Given the description of an element on the screen output the (x, y) to click on. 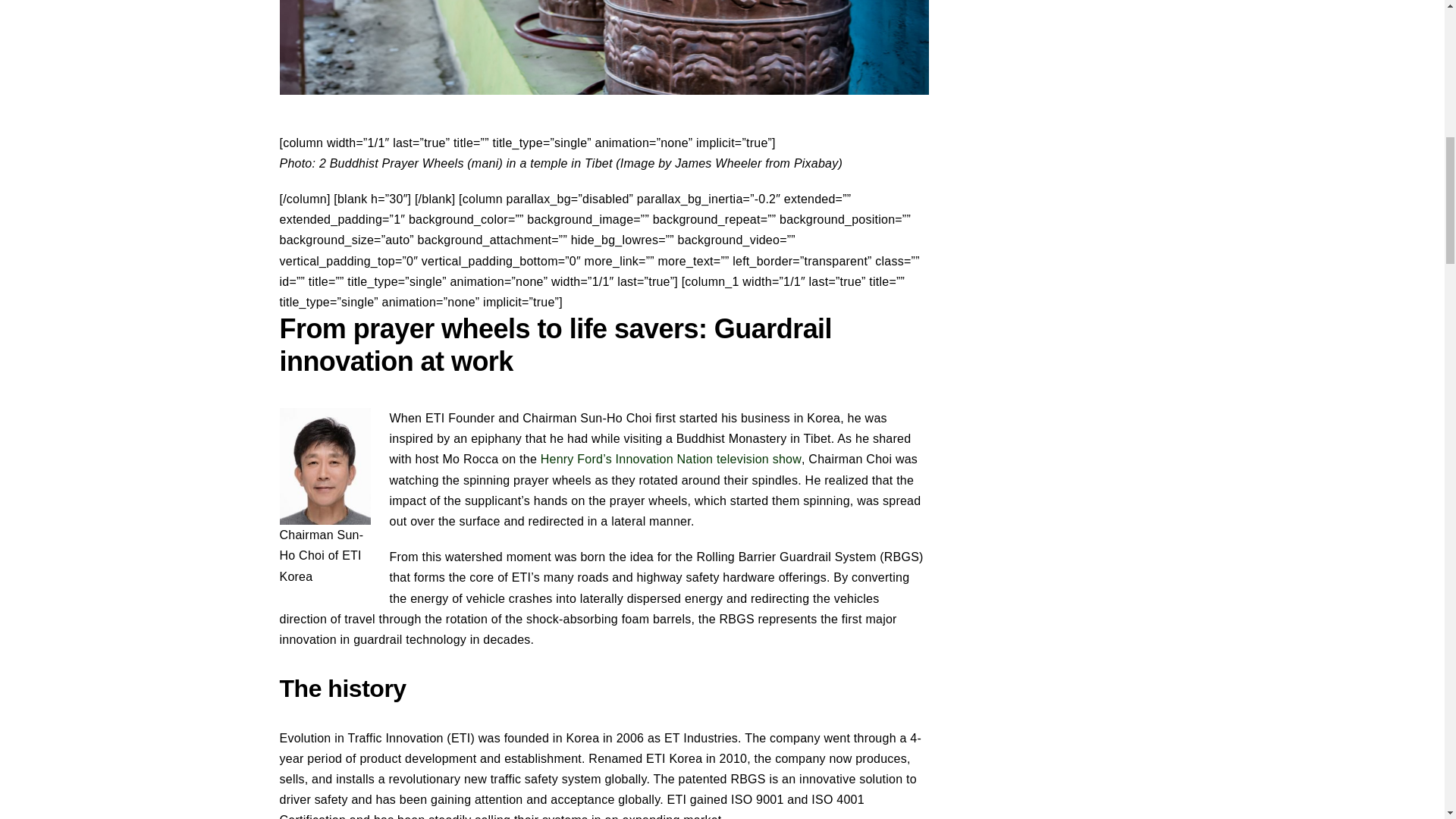
ETI-asian-3797484 (603, 47)
